Given the description of an element on the screen output the (x, y) to click on. 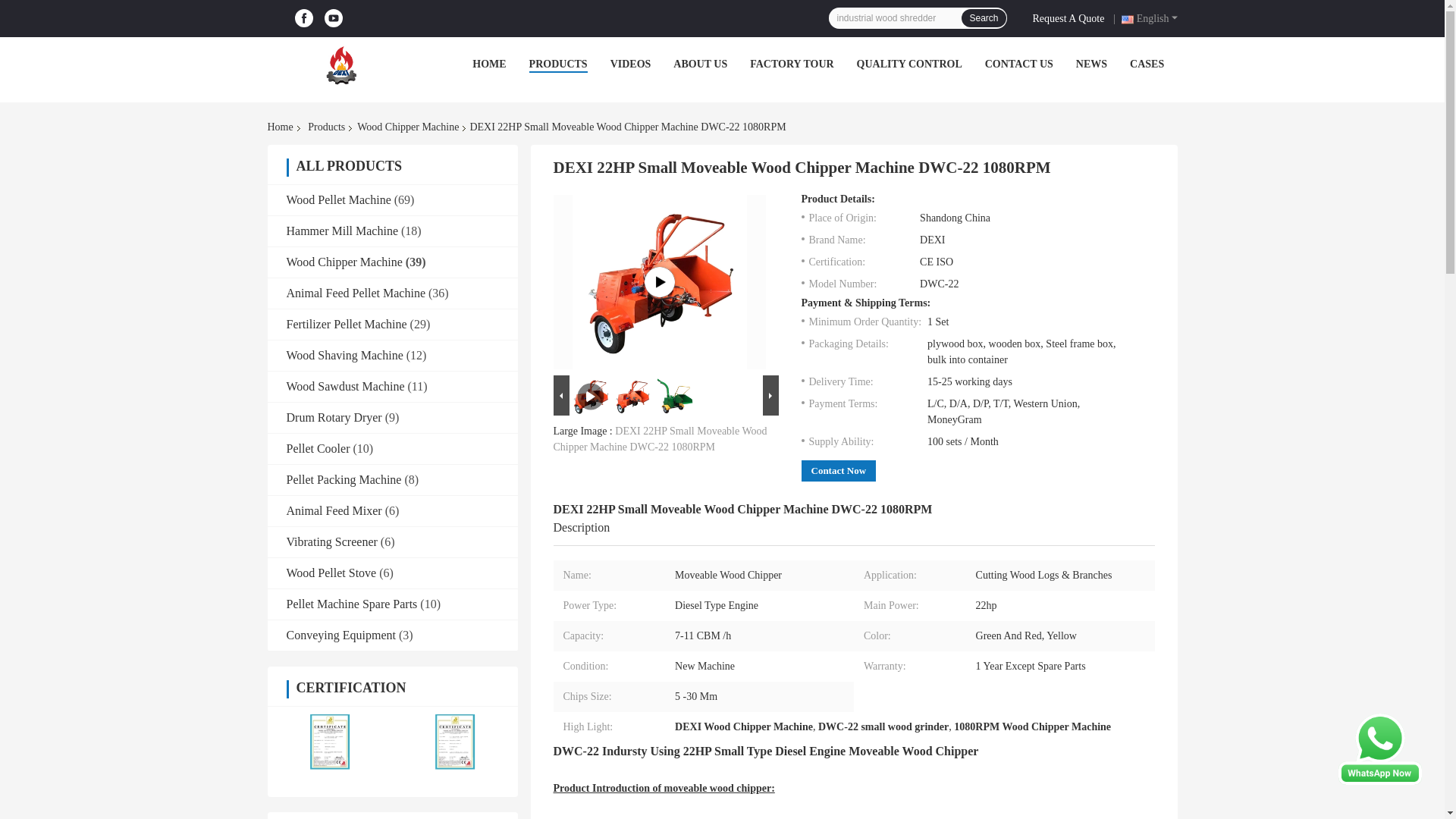
Pellet Packing Machine (343, 479)
Wood Chipper Machine (325, 127)
Wood Shaving Machine (344, 354)
Products (325, 127)
Wood Chipper Machine (344, 261)
Wood Pellet Machine (338, 199)
Request A Quote (1071, 17)
FACTORY TOUR (790, 63)
NEWS (1090, 63)
Quote (1071, 17)
